Given the description of an element on the screen output the (x, y) to click on. 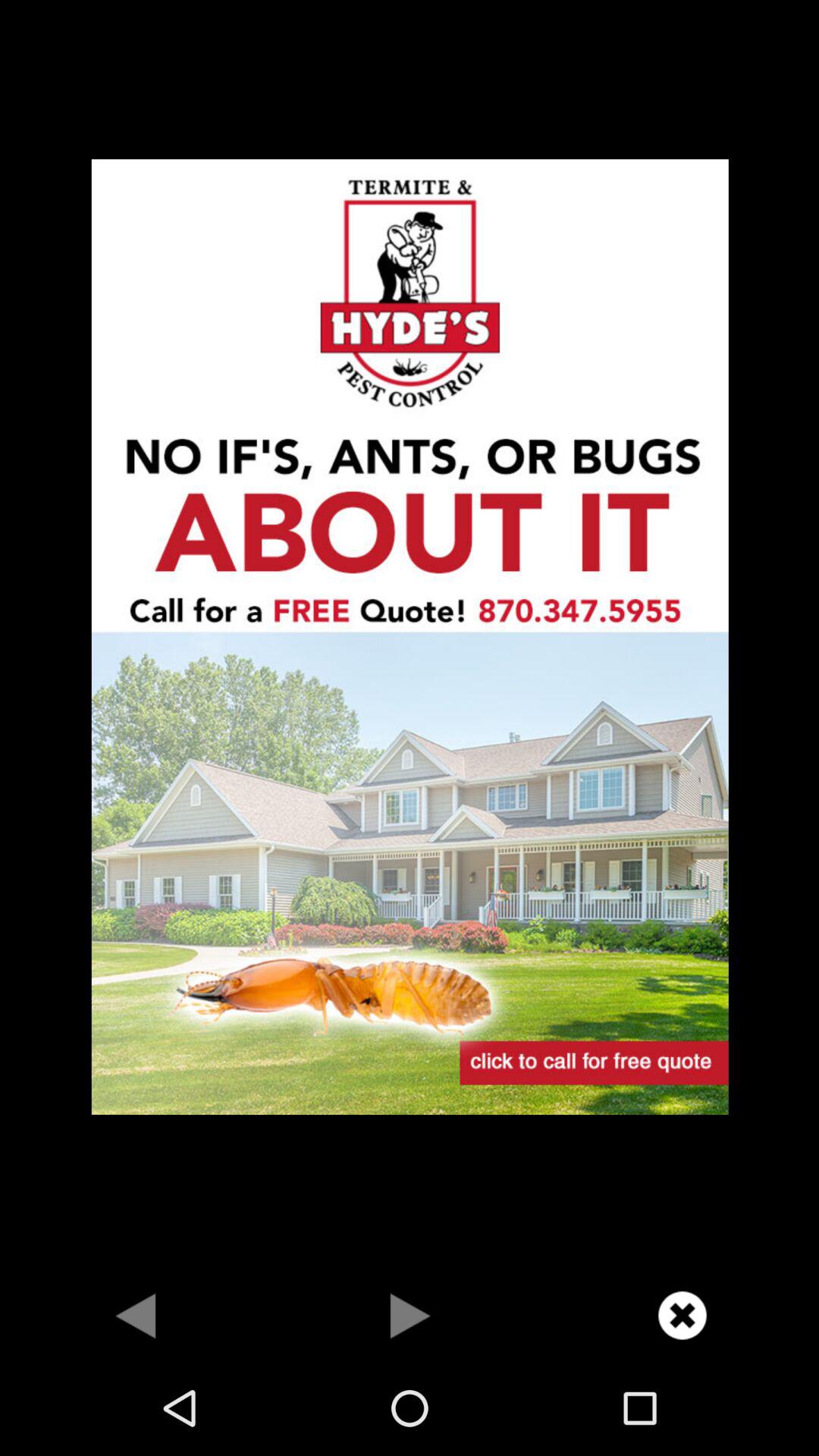
close (682, 1315)
